Given the description of an element on the screen output the (x, y) to click on. 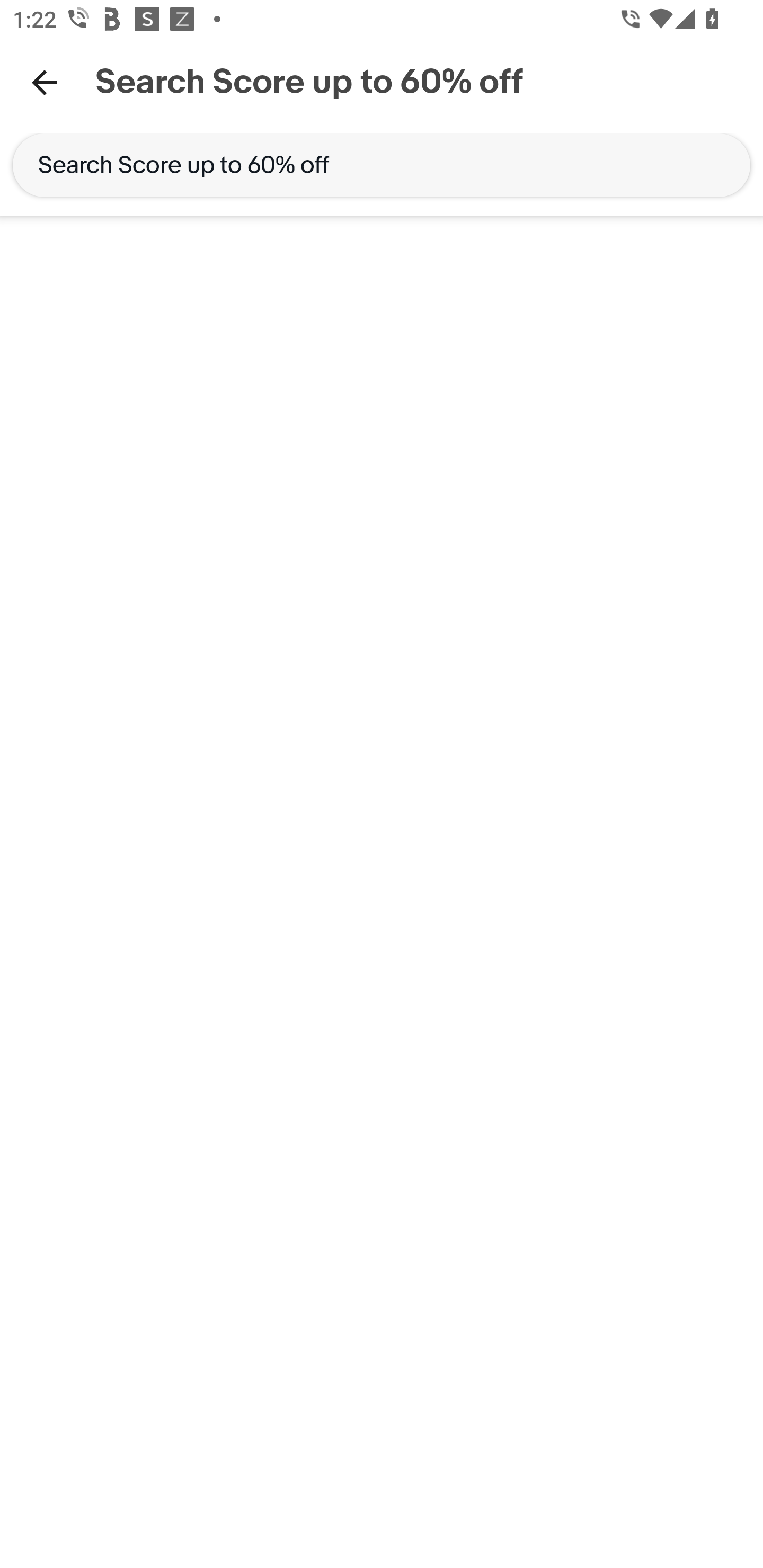
Navigate up (44, 82)
Search Score up to 60% off (381, 165)
